Given the description of an element on the screen output the (x, y) to click on. 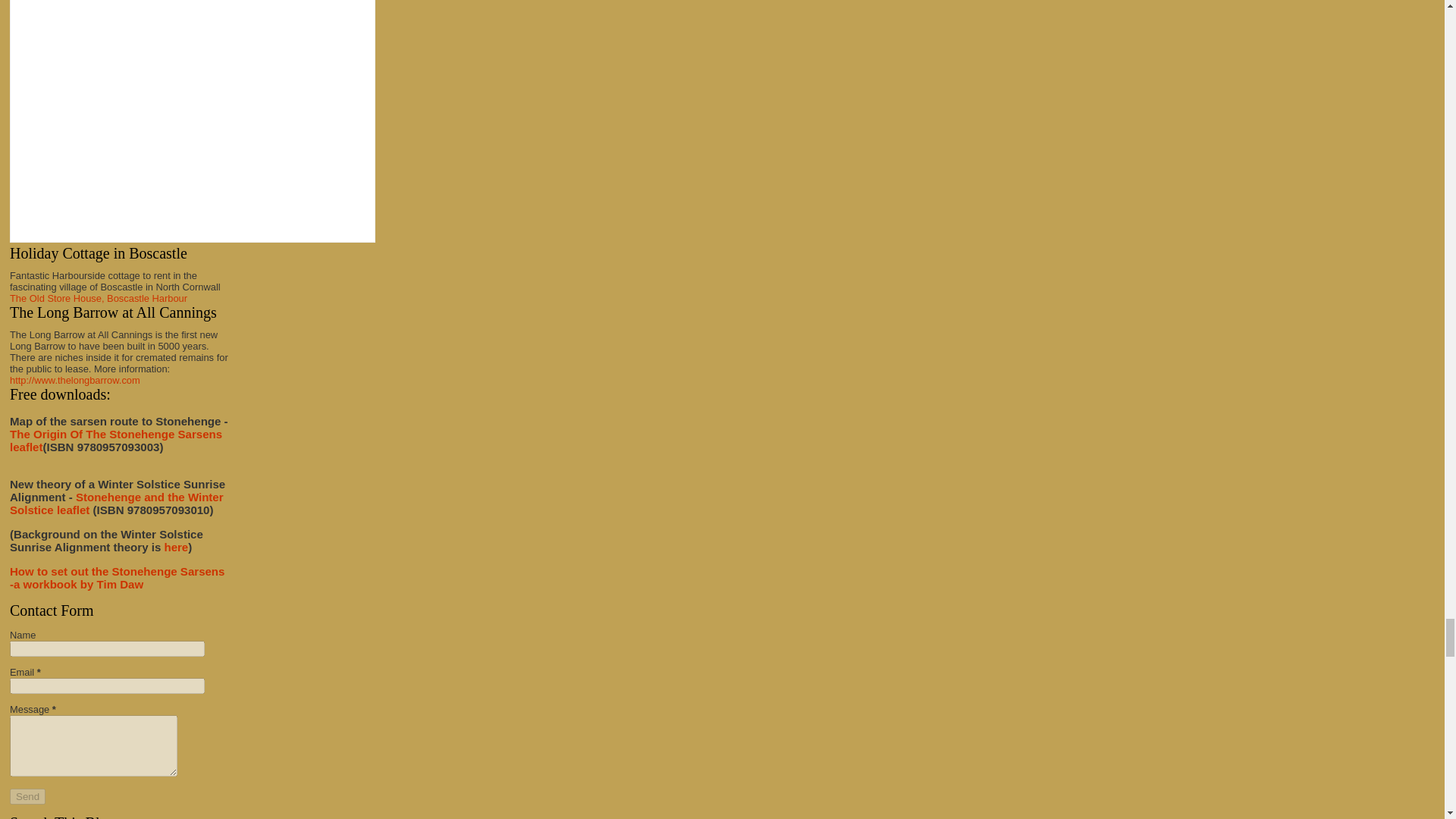
Send (27, 796)
